Given the description of an element on the screen output the (x, y) to click on. 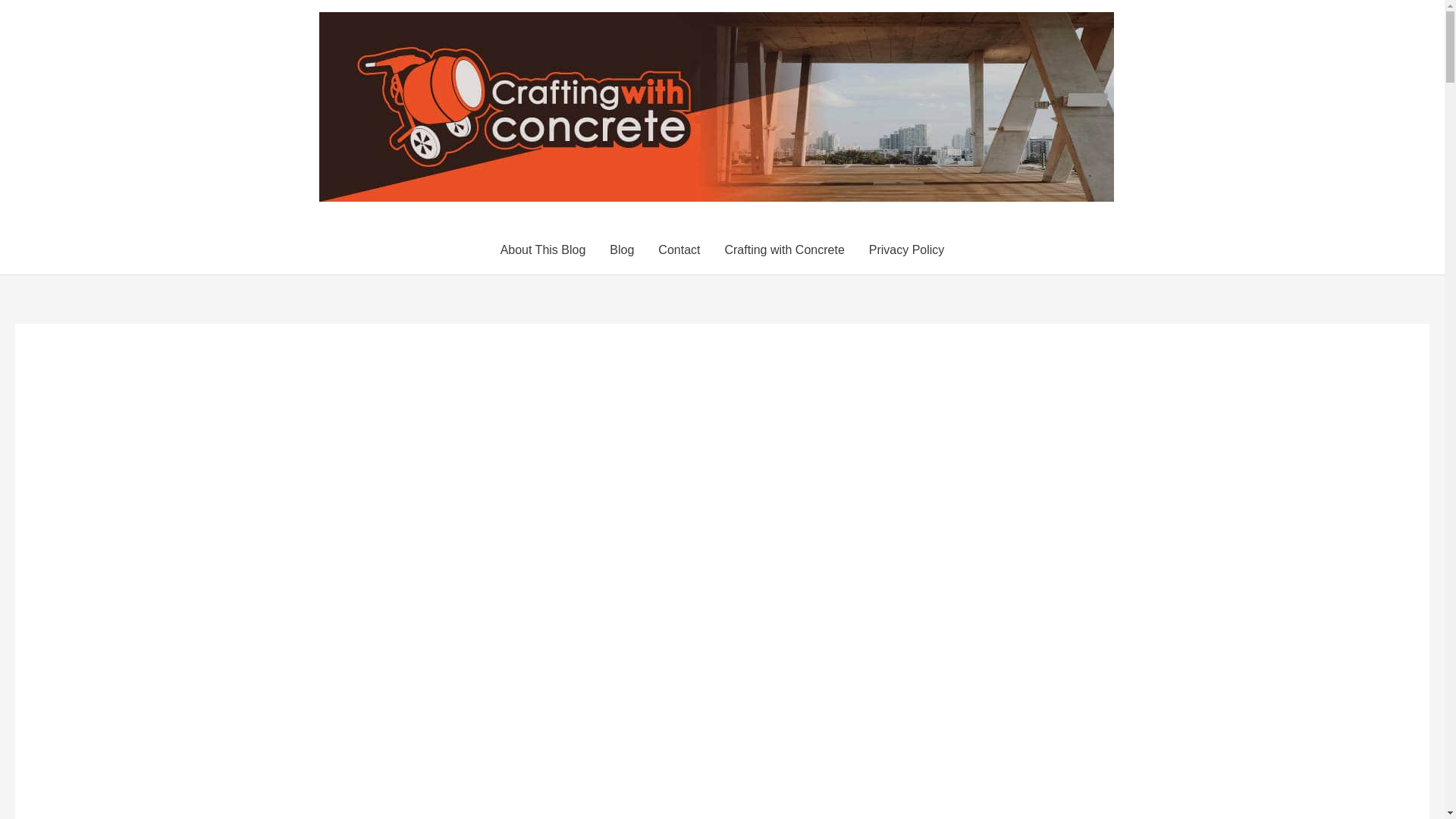
Contact (678, 250)
Blog (621, 250)
About This Blog (542, 250)
Privacy Policy (906, 250)
Crafting with Concrete (783, 250)
